Given the description of an element on the screen output the (x, y) to click on. 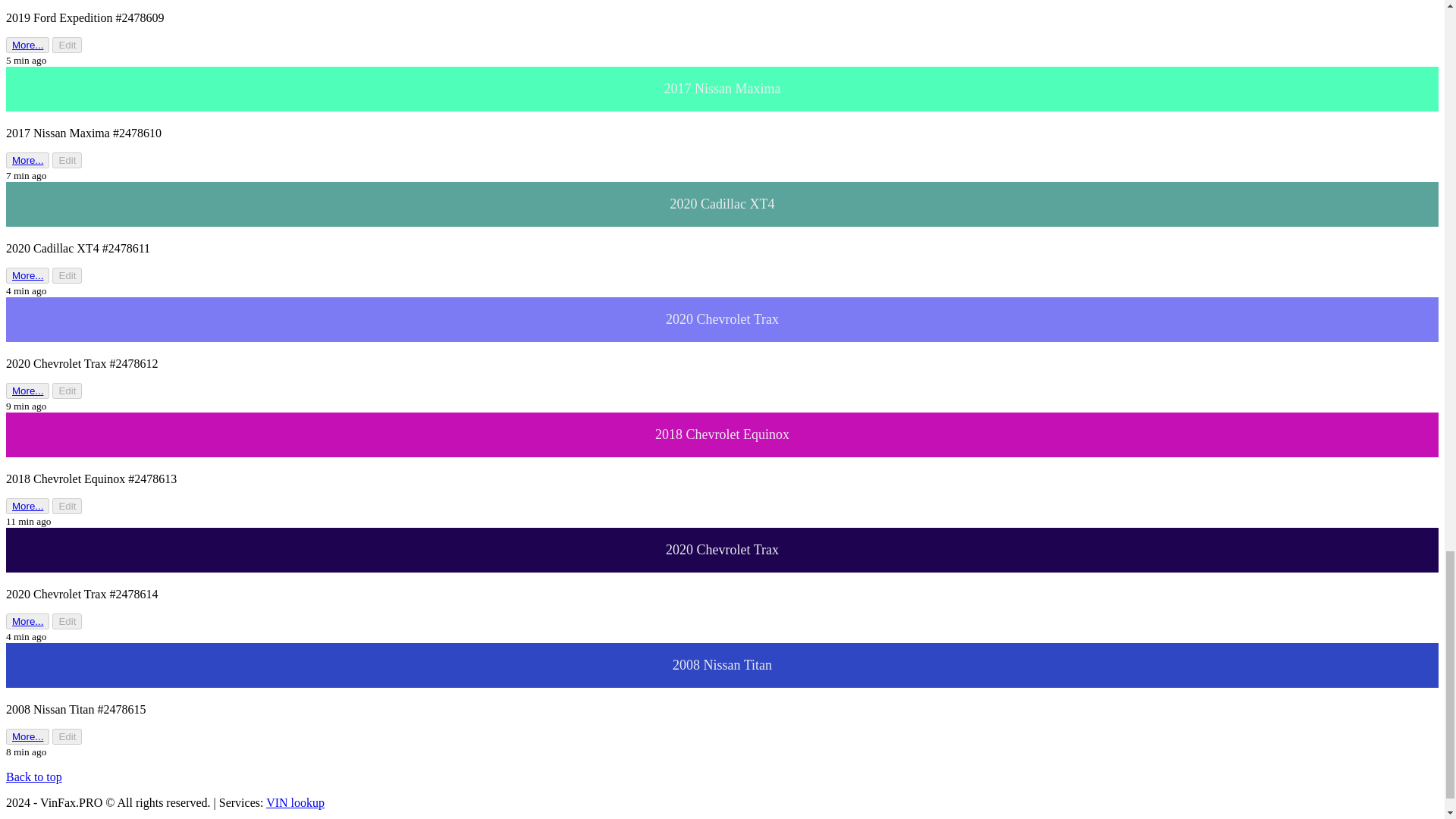
VIN lookup (295, 802)
More... (27, 390)
More... (27, 275)
More... (27, 160)
More... (27, 44)
Edit (66, 44)
Edit (66, 390)
Edit (66, 160)
More... (27, 390)
More... (27, 275)
More... (27, 505)
More... (27, 505)
More... (27, 160)
Edit (66, 275)
More... (27, 44)
